Given the description of an element on the screen output the (x, y) to click on. 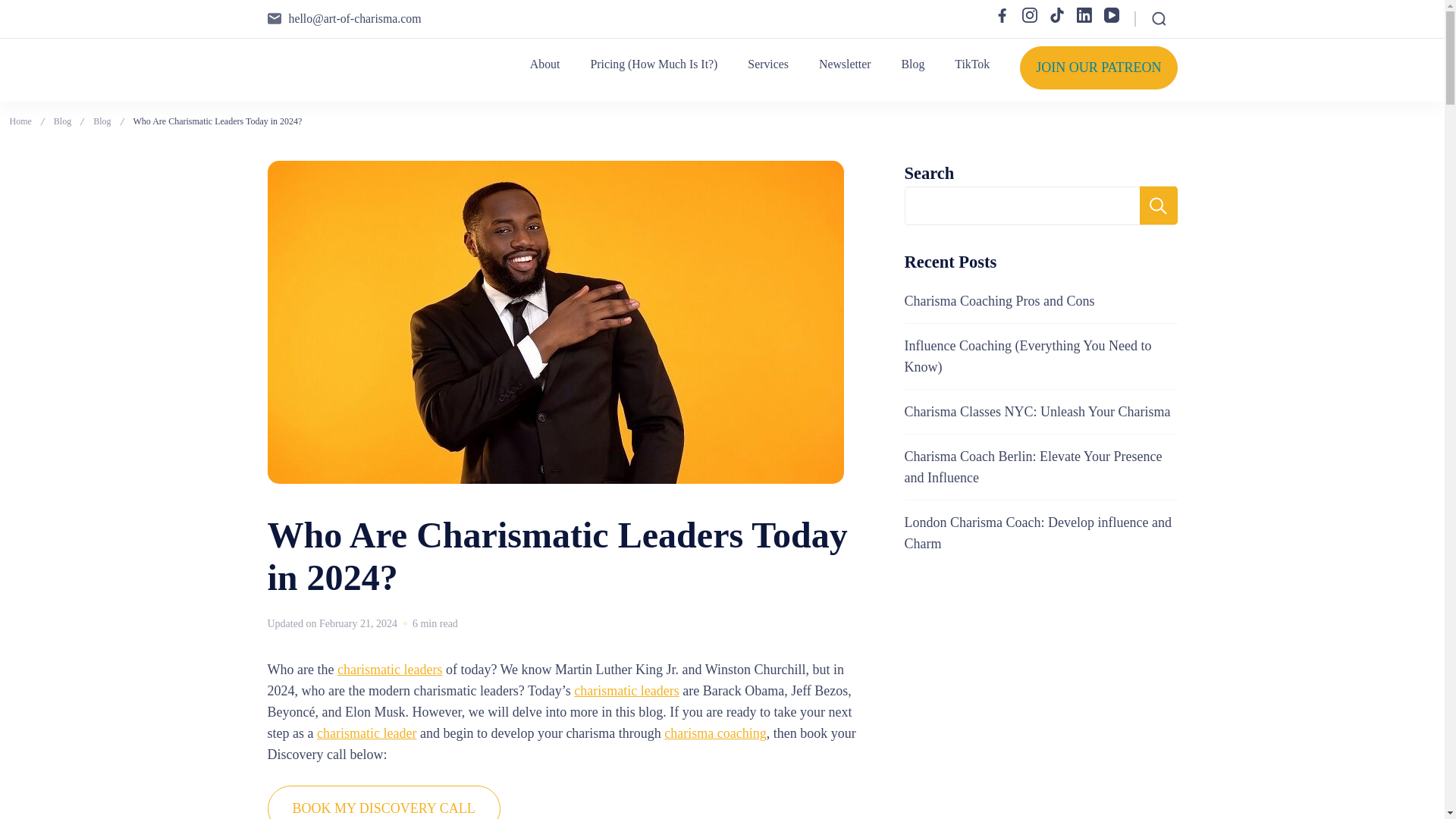
Newsletter (844, 64)
Blog (912, 64)
About (544, 64)
Home (19, 120)
JOIN OUR PATREON (1098, 67)
Art of Charisma (341, 82)
Services (768, 64)
TikTok (972, 64)
